Given the description of an element on the screen output the (x, y) to click on. 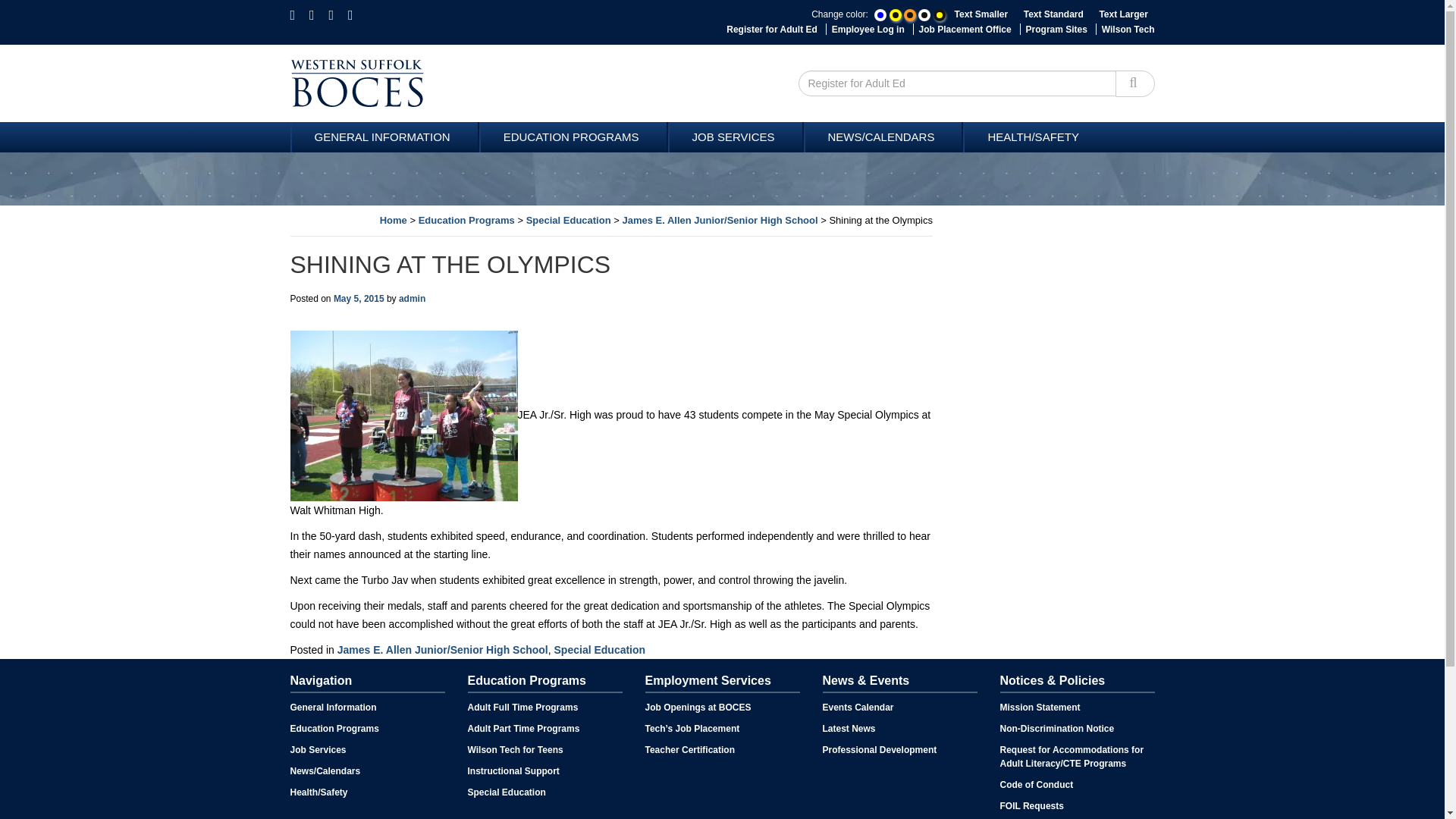
Register for Adult Ed (771, 29)
Job Placement Office (964, 29)
Go to Western Suffolk Boces. (393, 220)
Wilson Tech (1128, 29)
EDUCATION PROGRAMS (573, 137)
Text Smaller (981, 14)
Search for: (956, 83)
GENERAL INFORMATION (384, 137)
Program Sites (1056, 29)
Employee Log in (867, 29)
Go to the Education Programs category archives. (467, 220)
Text Standard (1053, 14)
Text Larger (1123, 14)
Go to the Special Education category archives. (568, 220)
